Given the description of an element on the screen output the (x, y) to click on. 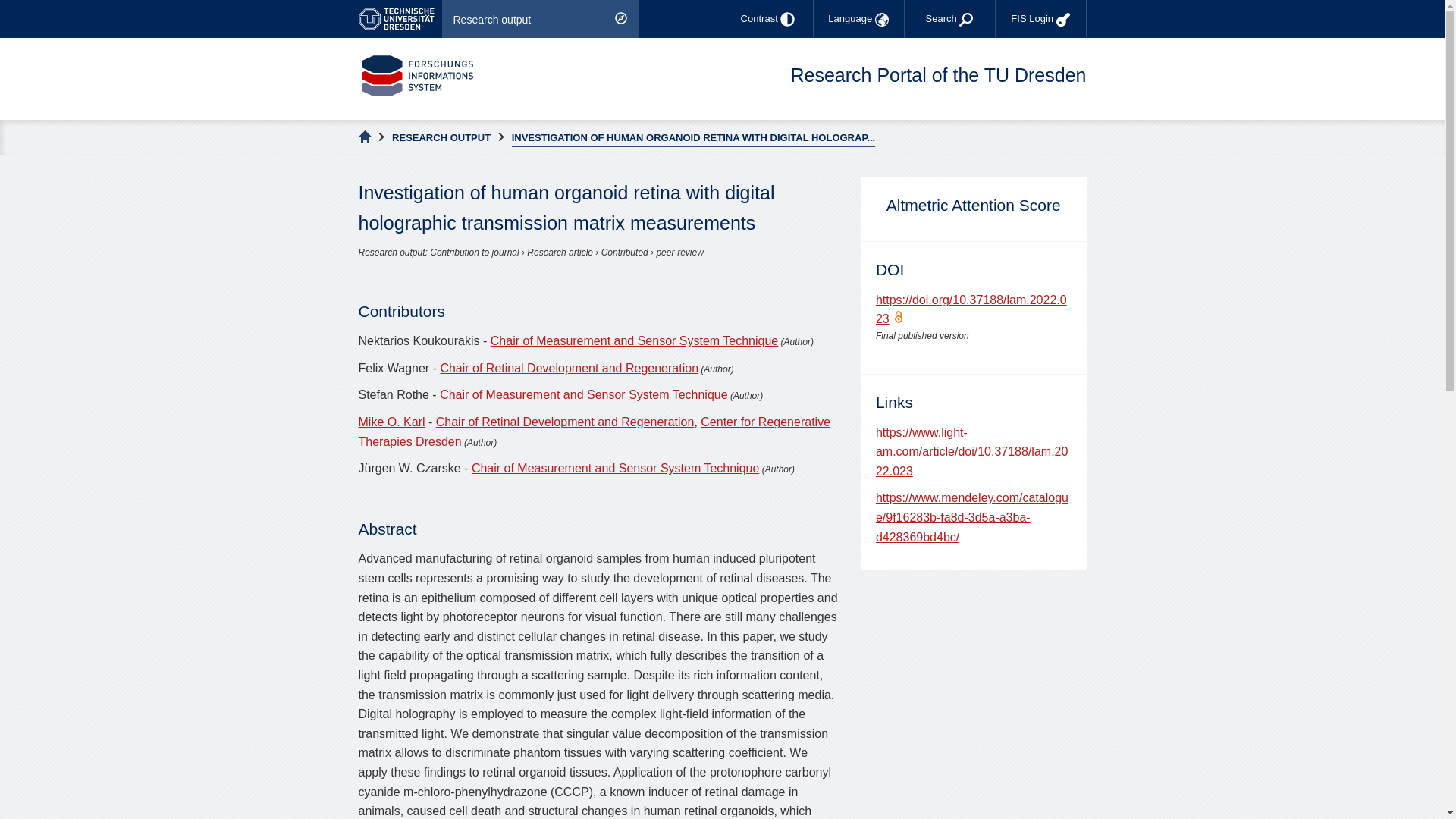
, external link (399, 18)
Toggle global search (949, 18)
Toggle language selection (858, 18)
Chair of Retinal Development and Regeneration (564, 421)
Chair of Measurement and Sensor System Technique (614, 468)
Mike O. Karl (391, 421)
Contrast (767, 18)
Language (858, 18)
Center for Regenerative Therapies Dresden (593, 431)
RESEARCH OUTPUT (440, 138)
Chair of Measurement and Sensor System Technique (582, 394)
FIS Login (1040, 18)
Search (949, 18)
Research output (540, 18)
